Given the description of an element on the screen output the (x, y) to click on. 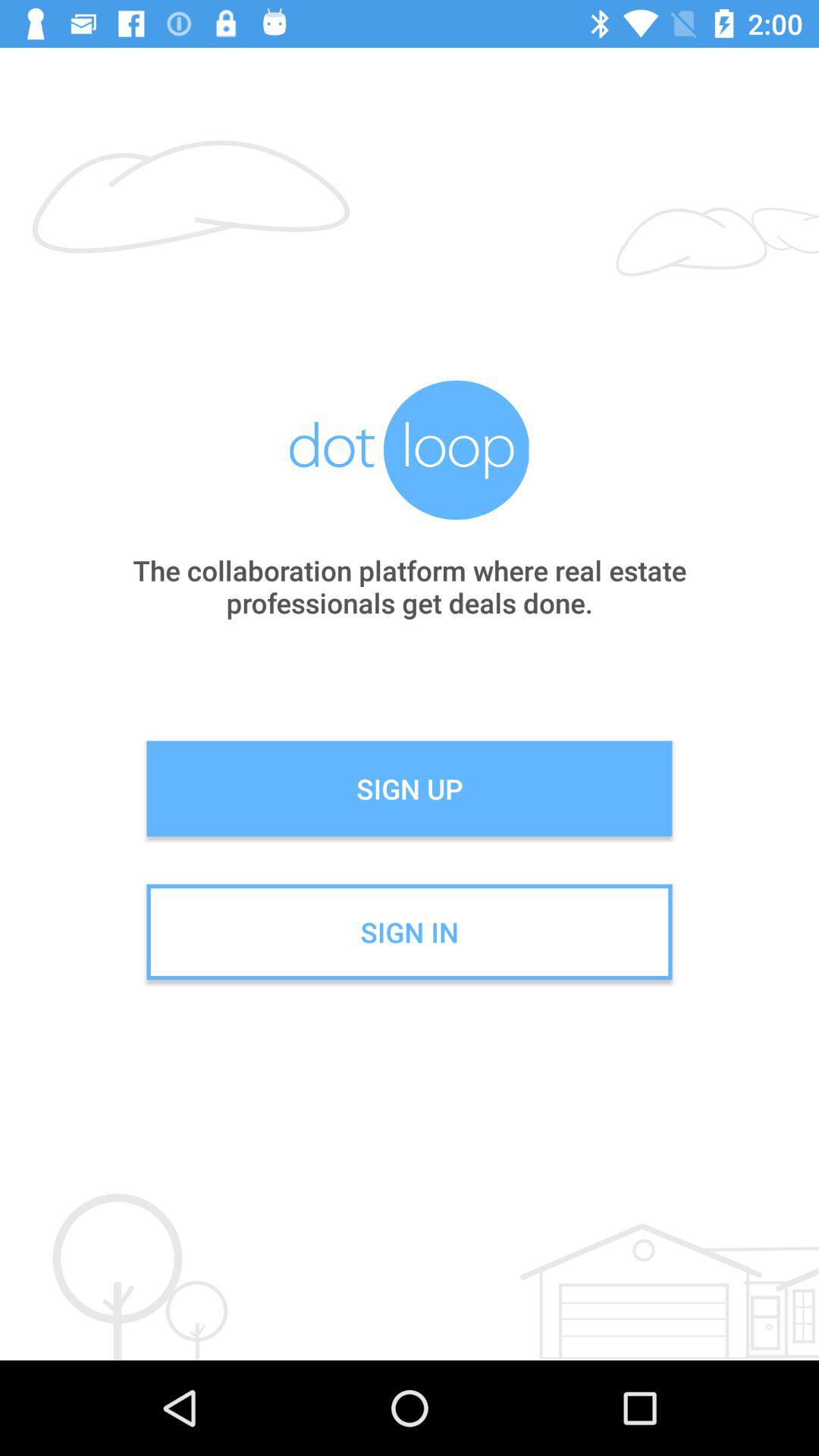
turn off the icon below the sign up (409, 931)
